Given the description of an element on the screen output the (x, y) to click on. 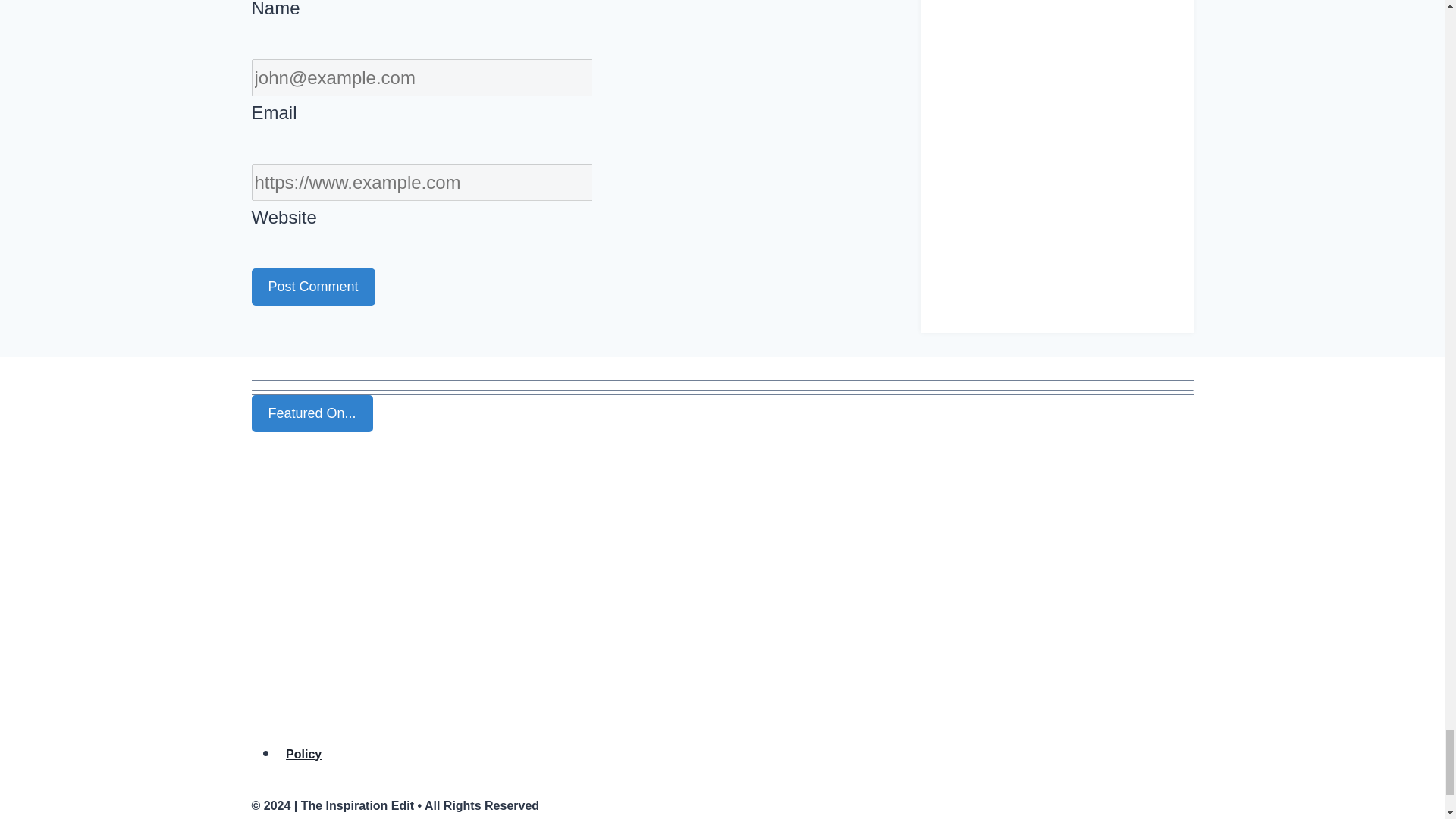
Post Comment (313, 286)
